Given the description of an element on the screen output the (x, y) to click on. 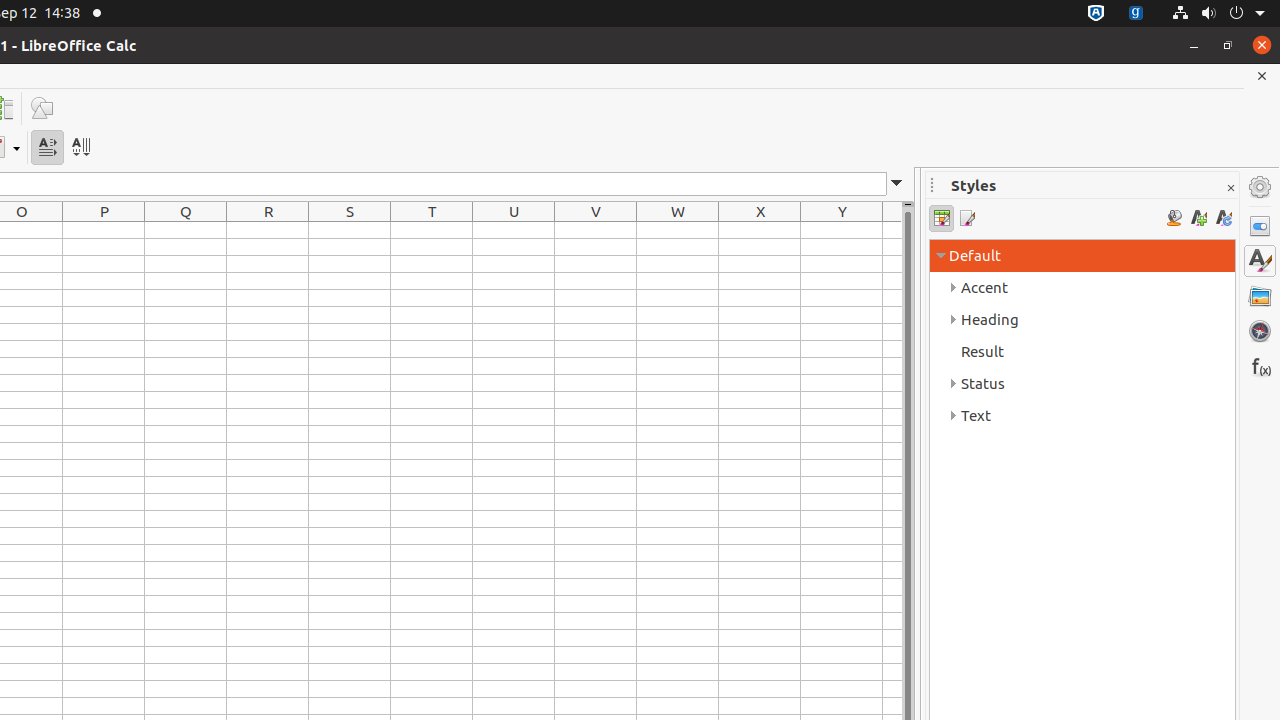
Cell Styles Element type: push-button (941, 218)
Close Sidebar Deck Element type: push-button (1230, 188)
Functions Element type: radio-button (1260, 366)
Navigator Element type: radio-button (1260, 331)
Q1 Element type: table-cell (186, 230)
